Given the description of an element on the screen output the (x, y) to click on. 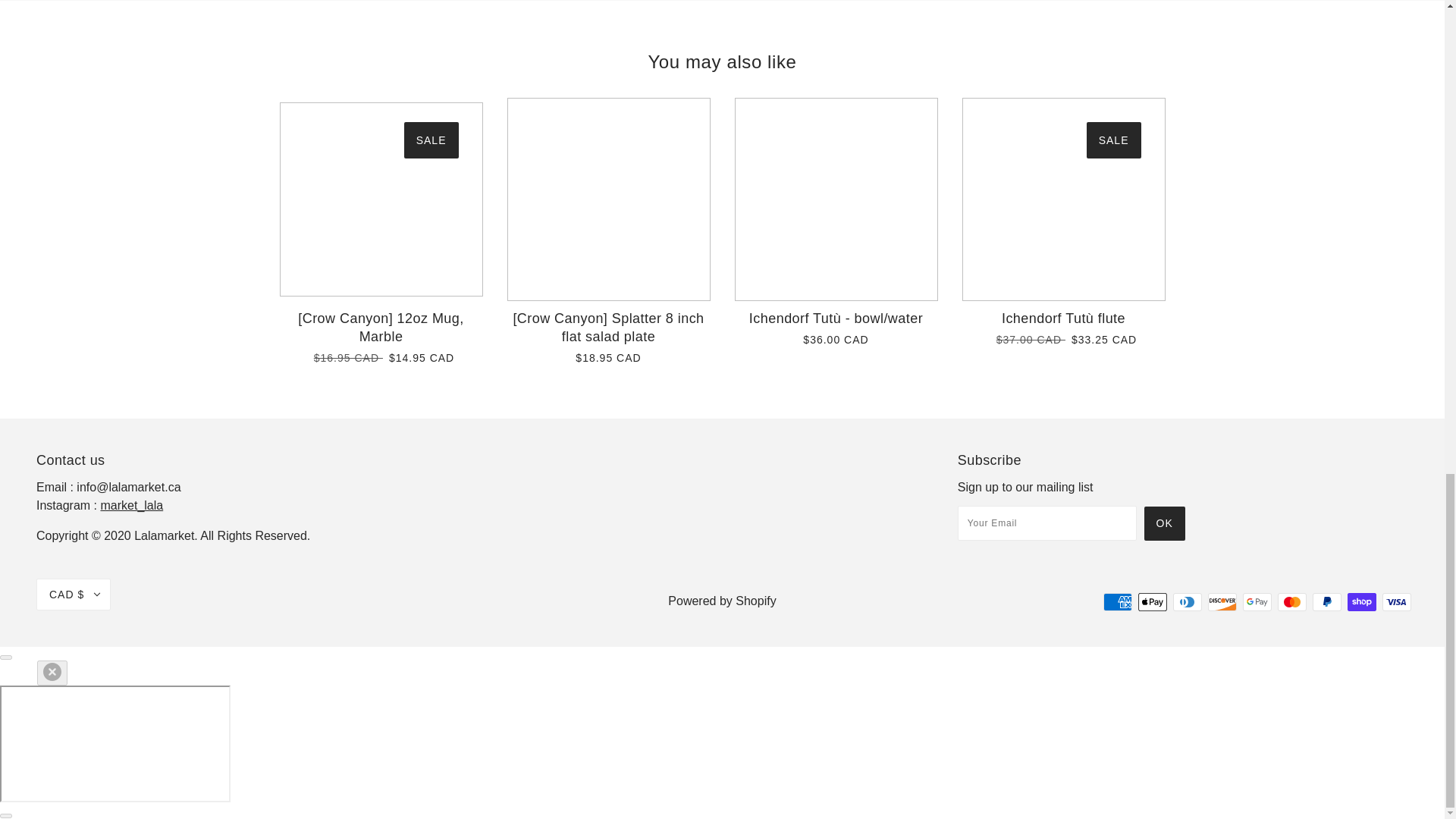
American Express (1117, 601)
Apple Pay (1152, 601)
Google Pay (1257, 601)
Discover (1222, 601)
Mastercard (1292, 601)
Visa (1395, 601)
Shop Pay (1361, 601)
Ok (1164, 523)
PayPal (1326, 601)
Diners Club (1187, 601)
